Given the description of an element on the screen output the (x, y) to click on. 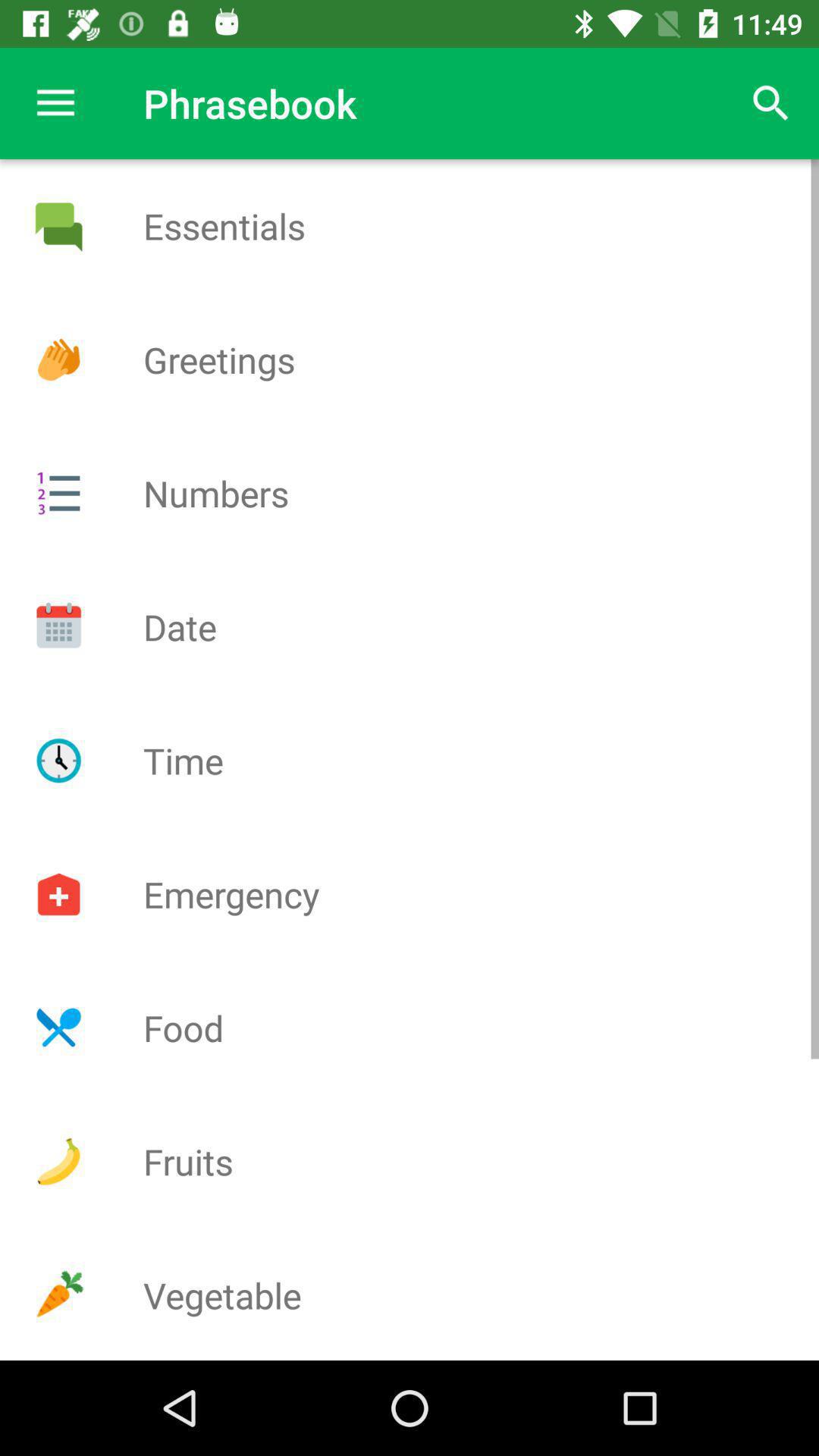
menu icon (58, 493)
